Given the description of an element on the screen output the (x, y) to click on. 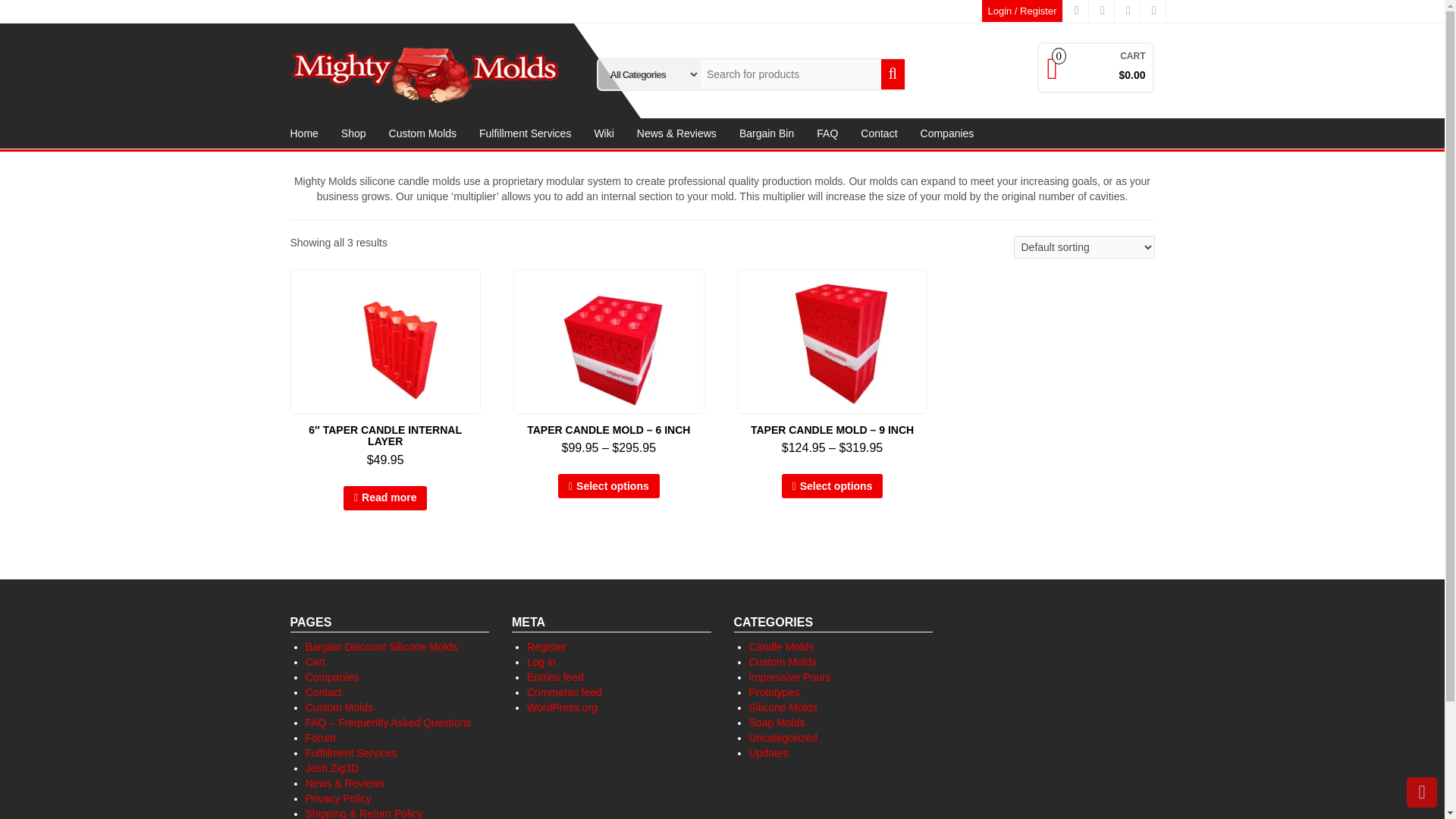
Fulfillment Services (524, 132)
Contact (878, 132)
Custom Molds (422, 132)
Companies (946, 132)
Home (304, 132)
Contact (878, 132)
Bargain Bin (766, 132)
Companies (946, 132)
FAQ (826, 132)
Bargain Bin (766, 132)
Shop (353, 132)
Select options (608, 485)
FAQ (826, 132)
Select options (832, 485)
Read more (384, 498)
